Given the description of an element on the screen output the (x, y) to click on. 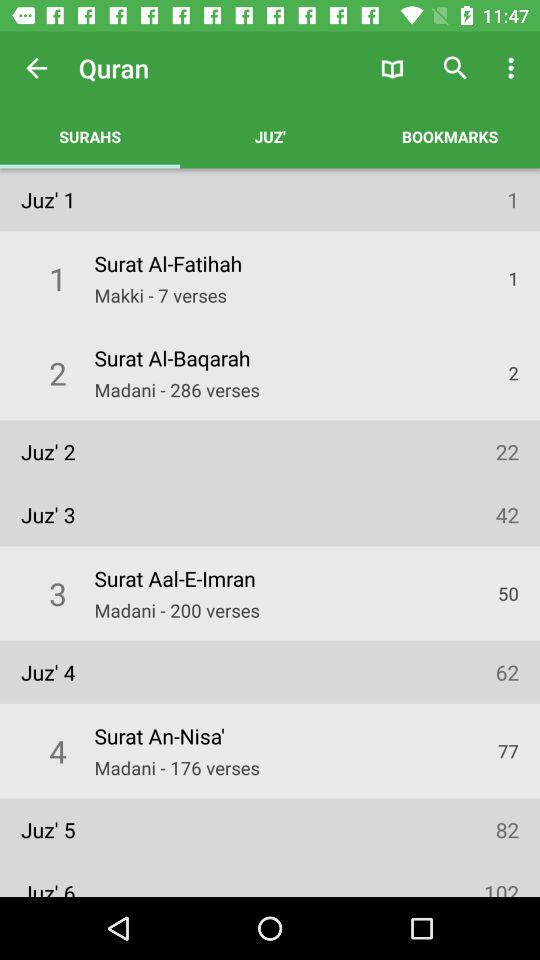
open item to the left of quran app (36, 68)
